Given the description of an element on the screen output the (x, y) to click on. 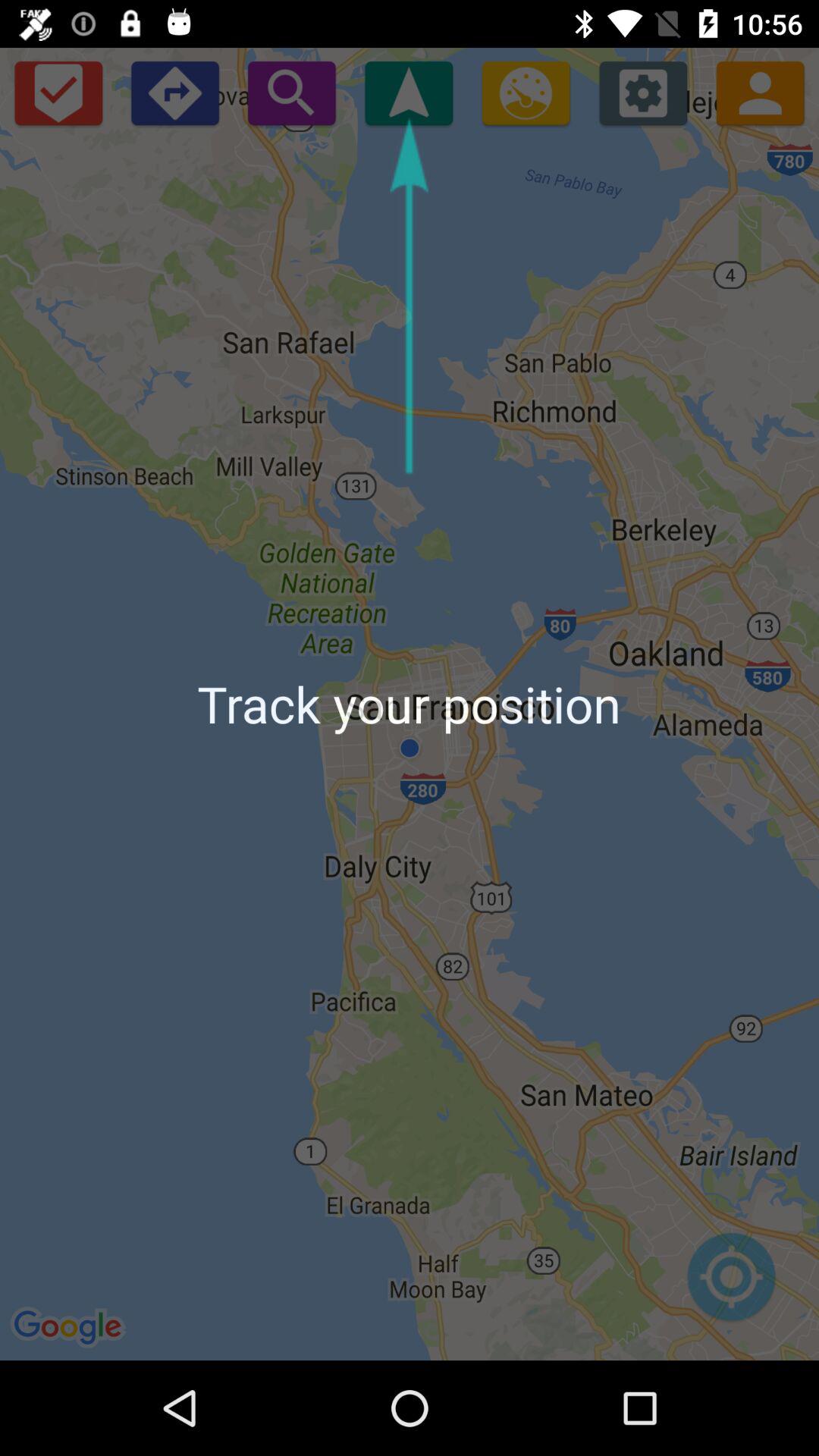
find the settings icon (642, 92)
